Given the description of an element on the screen output the (x, y) to click on. 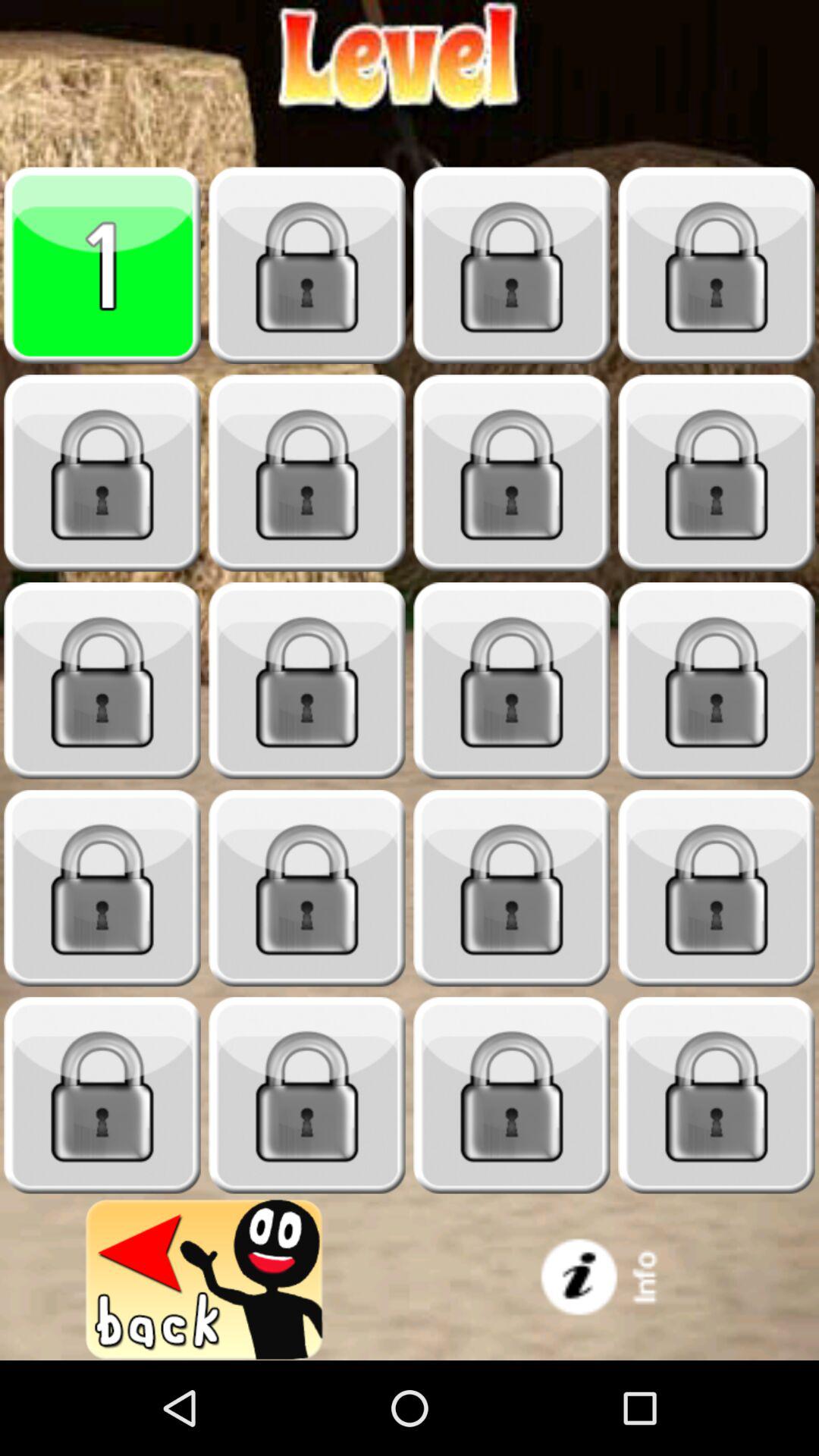
locked box (511, 473)
